Given the description of an element on the screen output the (x, y) to click on. 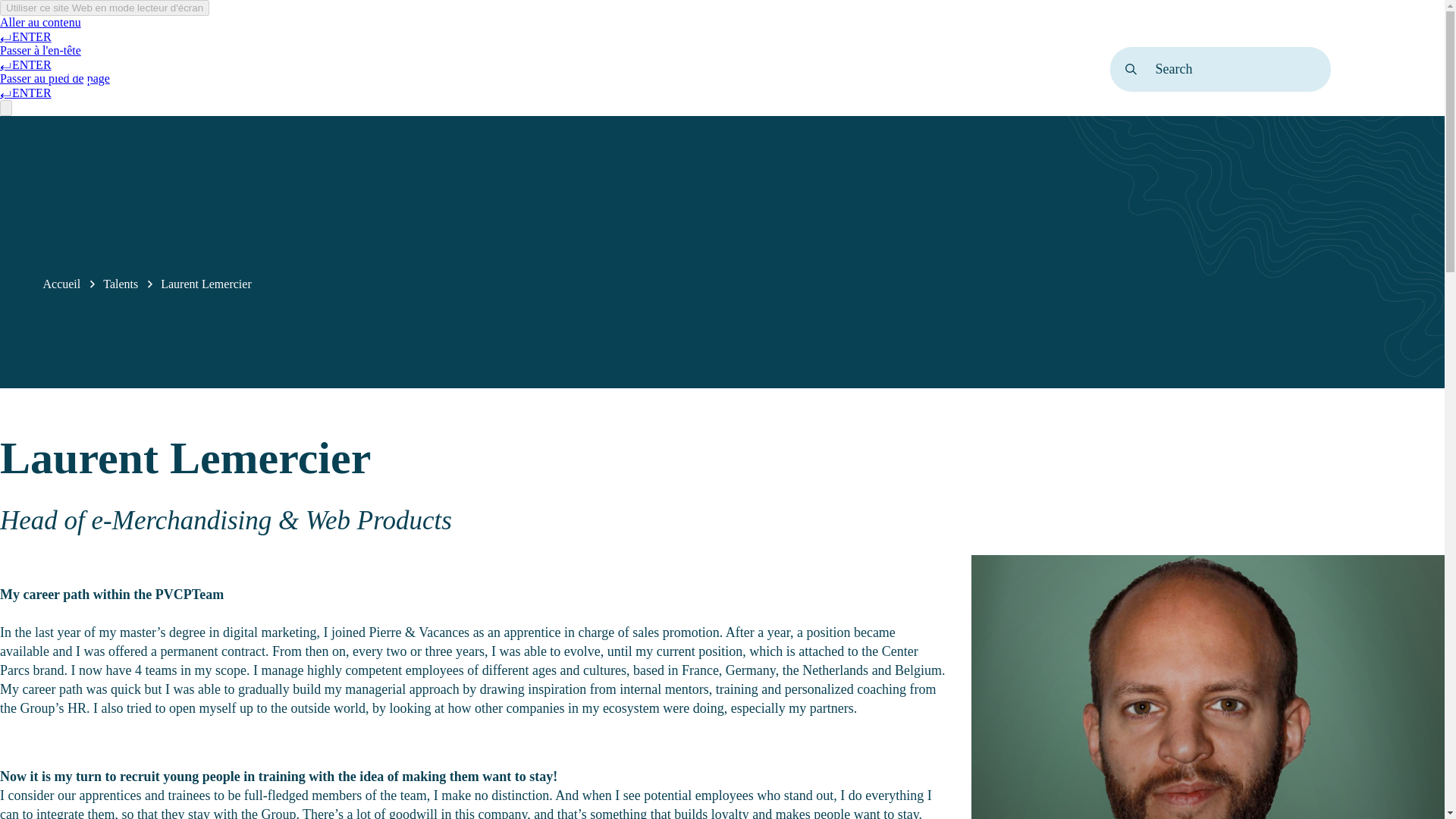
Talents (120, 283)
Talents (520, 68)
Group (269, 68)
Finance (594, 68)
Brands (339, 68)
EN (1376, 68)
submit (1130, 68)
Accueil (61, 283)
Newsroom (678, 68)
Commitment (429, 68)
